Given the description of an element on the screen output the (x, y) to click on. 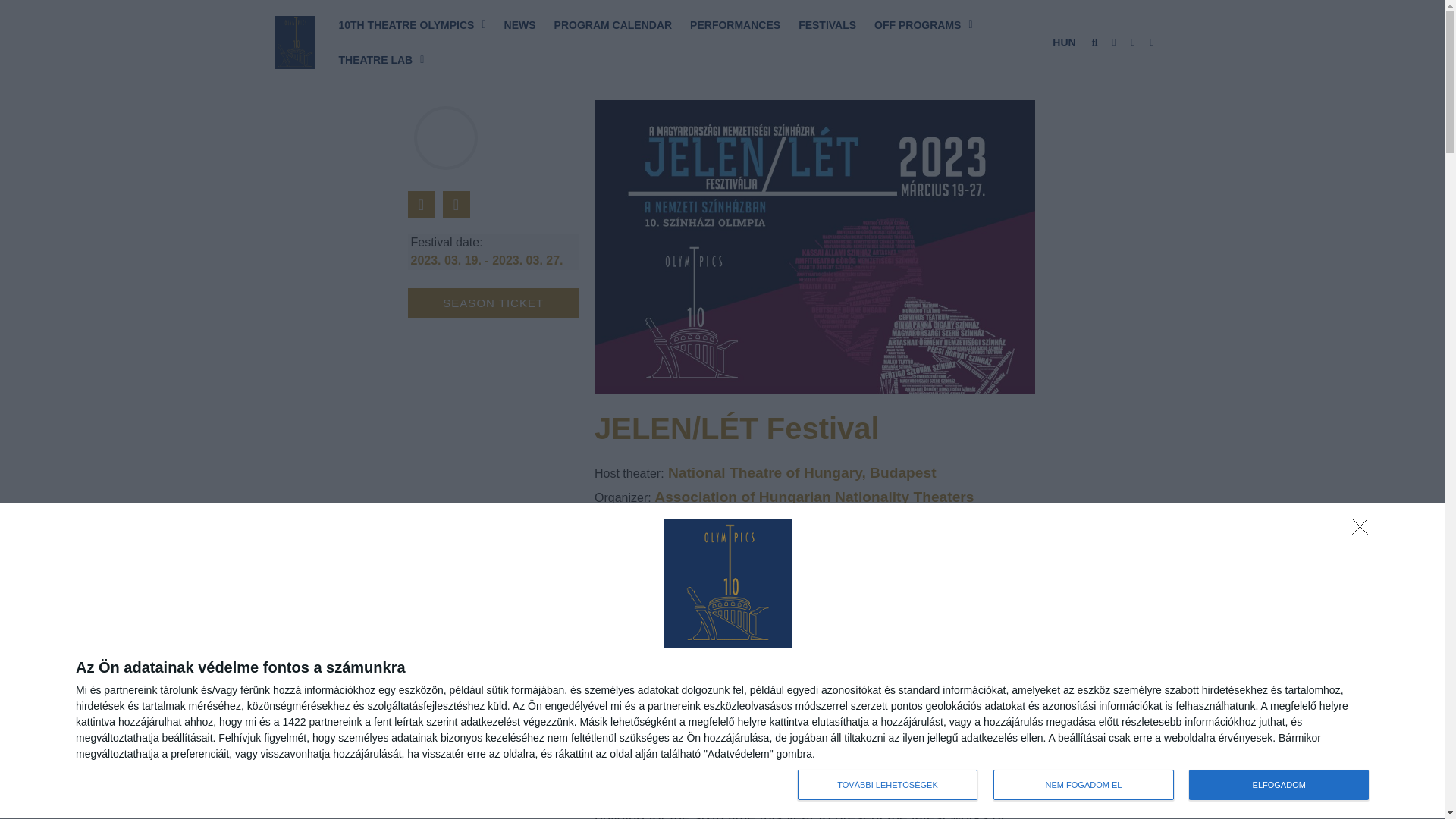
ELFOGADOM (1278, 784)
OFF PROGRAMS (922, 24)
THEATRE LAB (380, 59)
HUN (1063, 42)
PERFORMANCES (735, 24)
FESTIVALS (826, 24)
10TH THEATRE OLYMPICS (412, 24)
PROGRAM CALENDAR (612, 24)
NEM FOGADOM EL (1082, 784)
NEWS (519, 24)
